Given the description of an element on the screen output the (x, y) to click on. 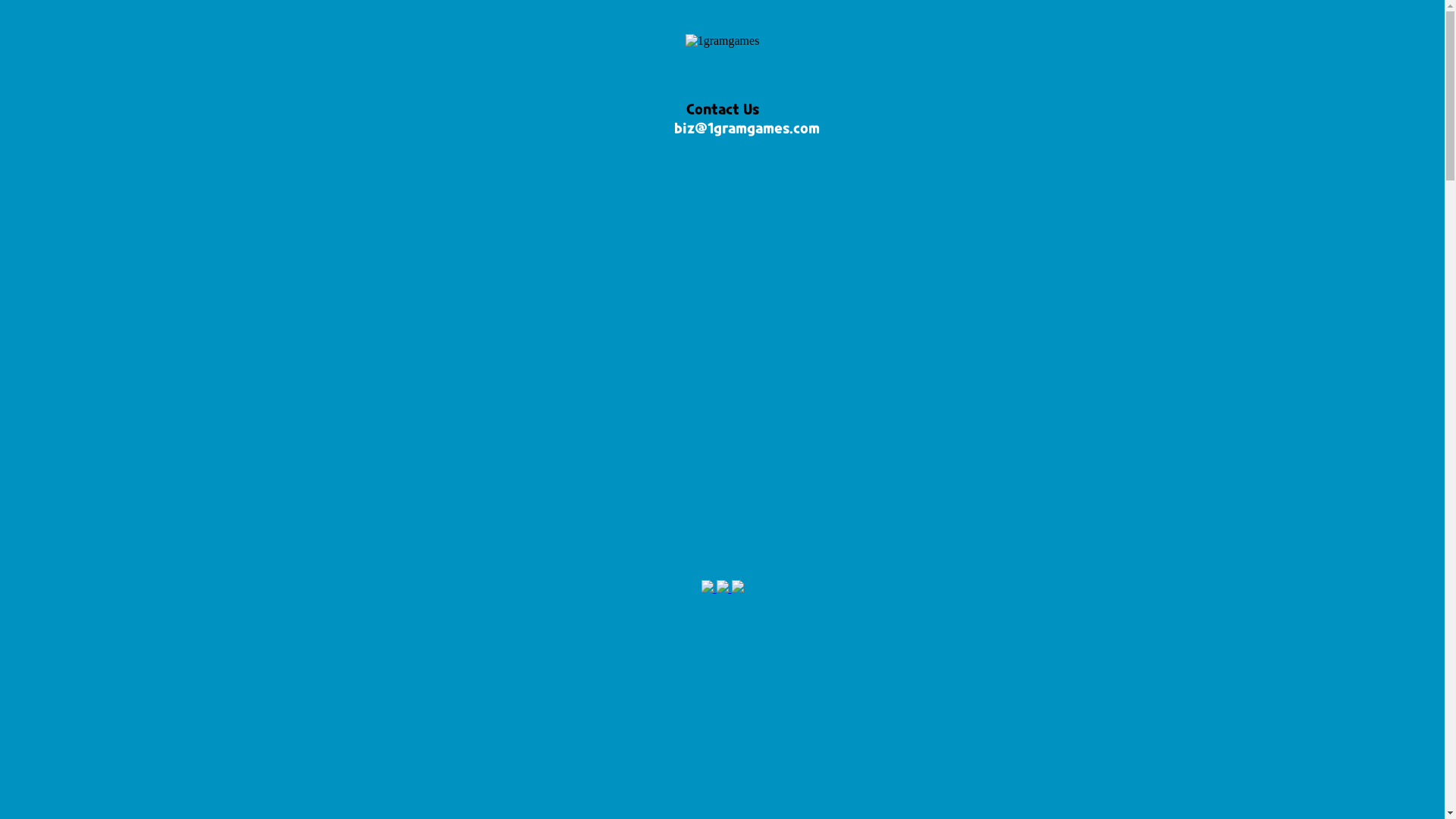
Contact Us Element type: text (721, 108)
biz@1gramgames.com Element type: text (746, 127)
